Given the description of an element on the screen output the (x, y) to click on. 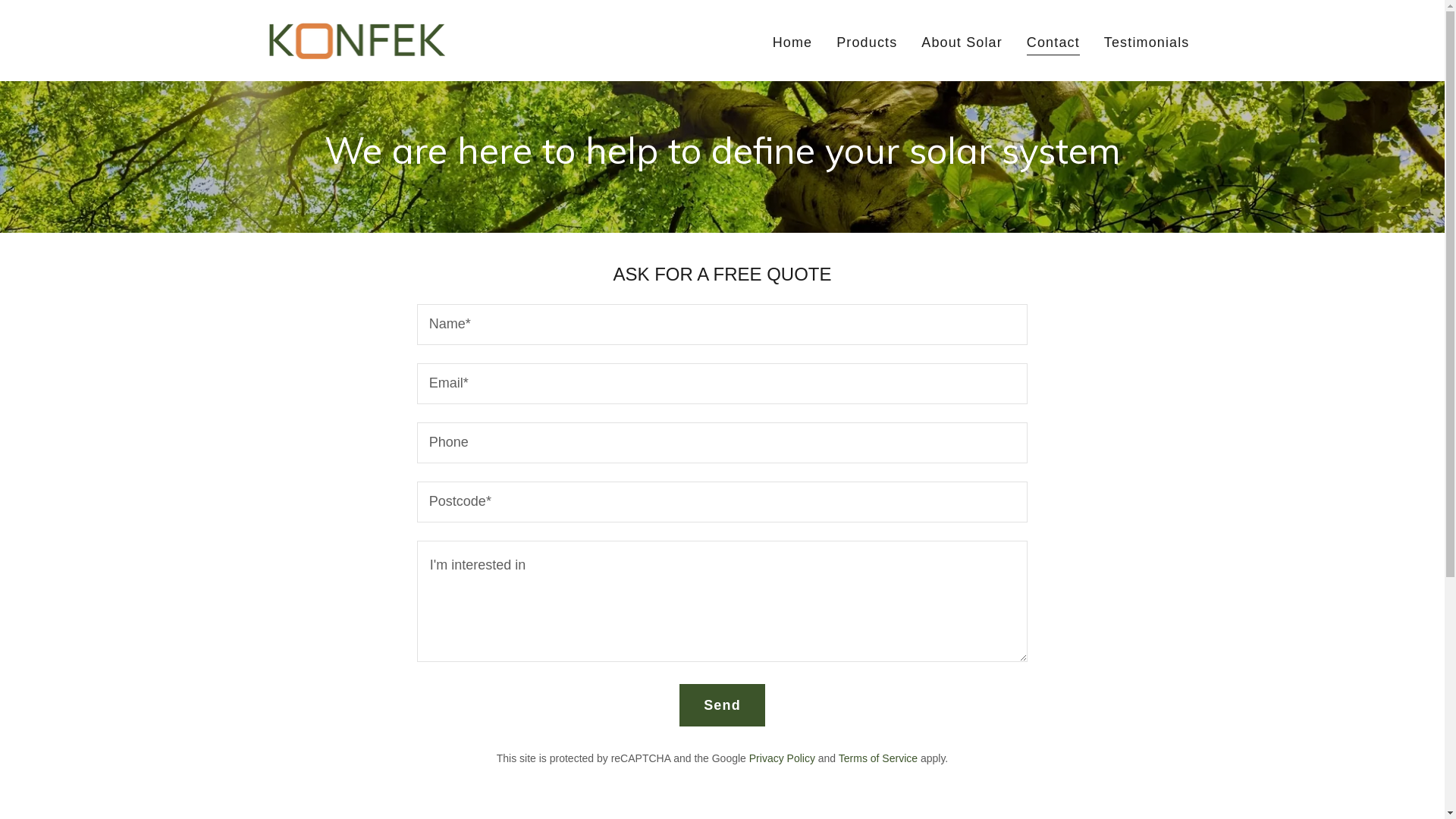
Testimonials Element type: text (1146, 42)
Terms of Service Element type: text (877, 758)
About Solar Element type: text (961, 42)
Contact Element type: text (1052, 44)
Products Element type: text (866, 42)
Privacy Policy Element type: text (782, 758)
Home Element type: text (792, 42)
Send Element type: text (722, 705)
